Given the description of an element on the screen output the (x, y) to click on. 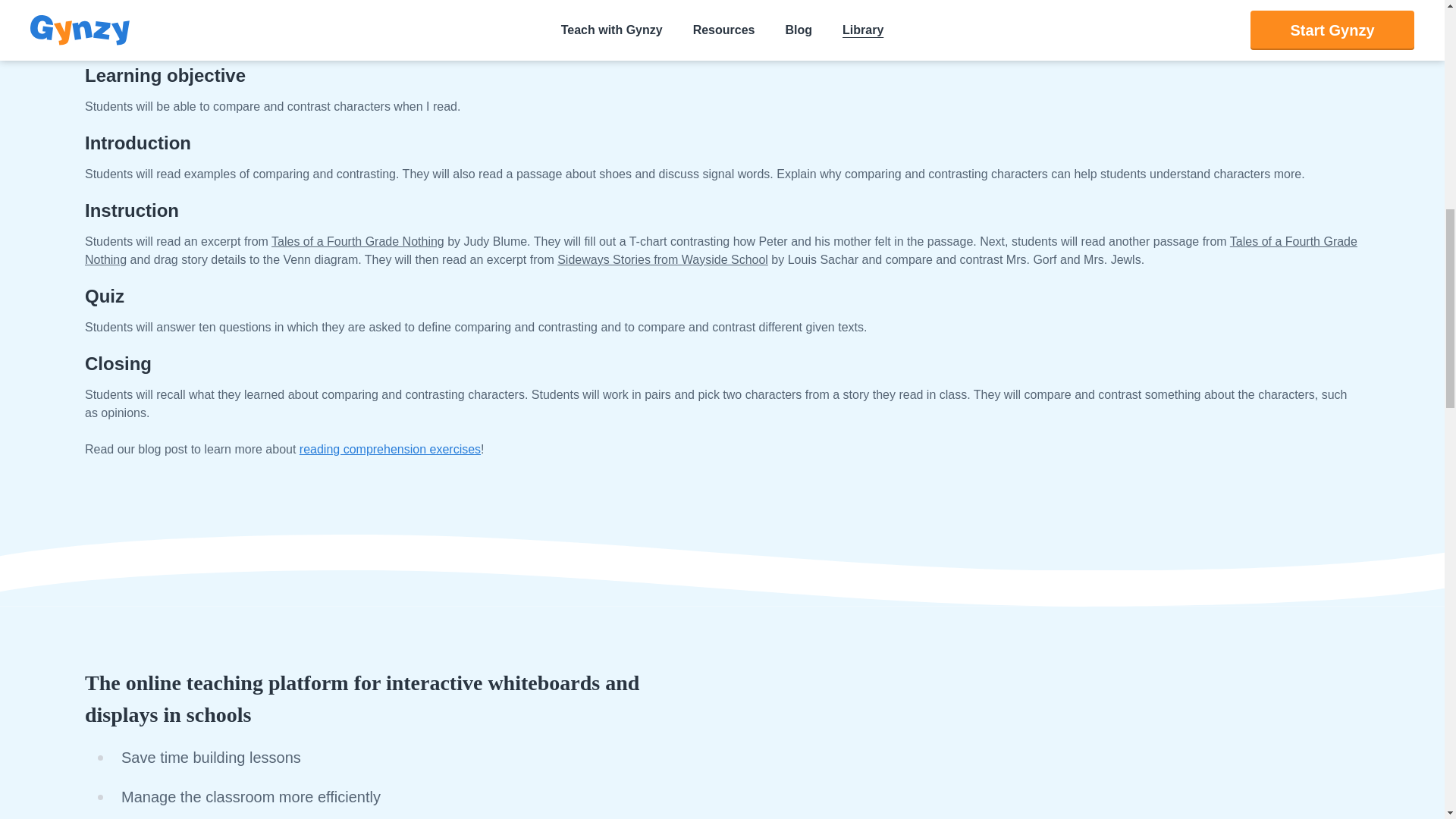
reading comprehension exercises (389, 449)
